Given the description of an element on the screen output the (x, y) to click on. 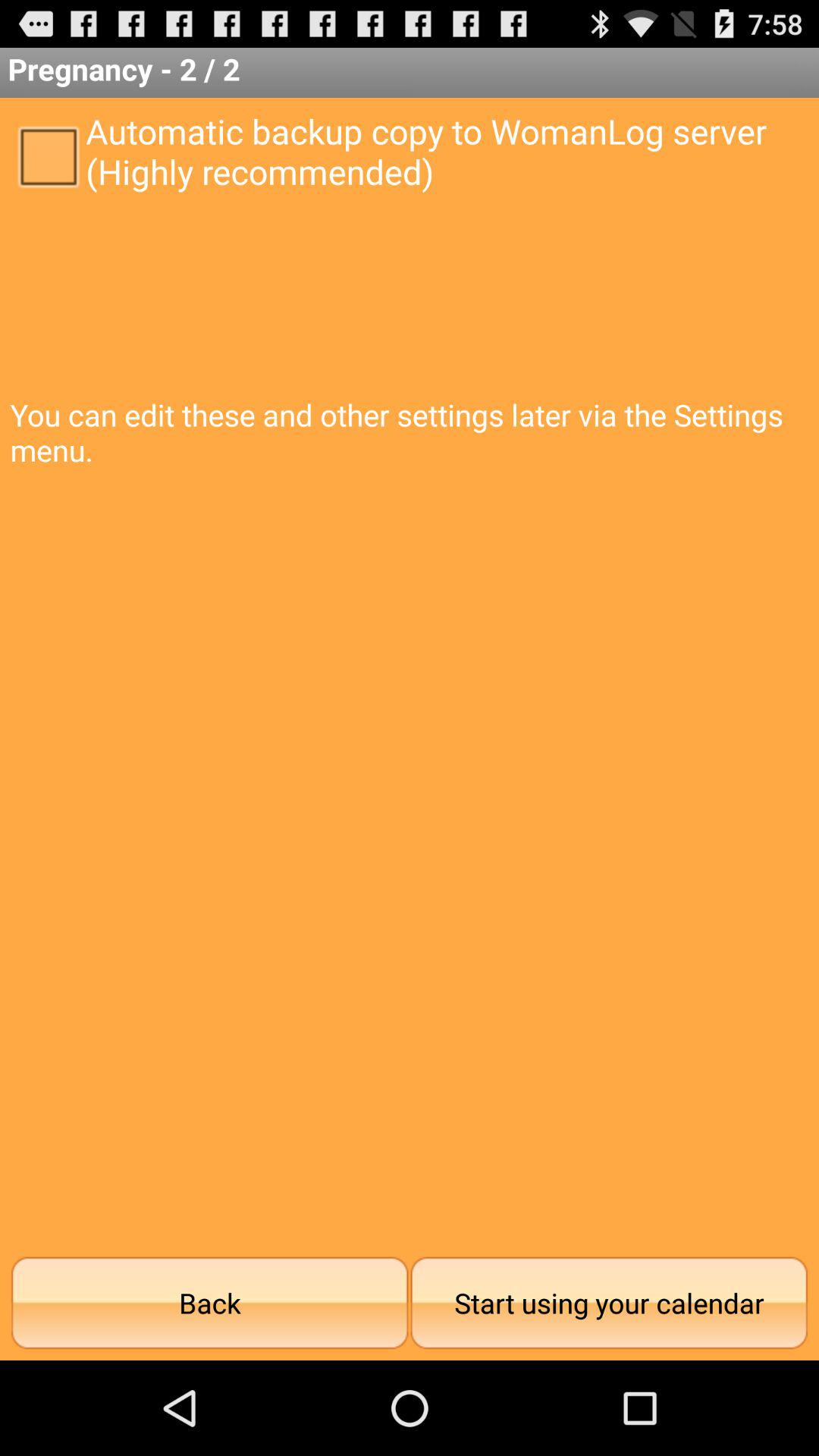
select the start using your icon (608, 1302)
